Given the description of an element on the screen output the (x, y) to click on. 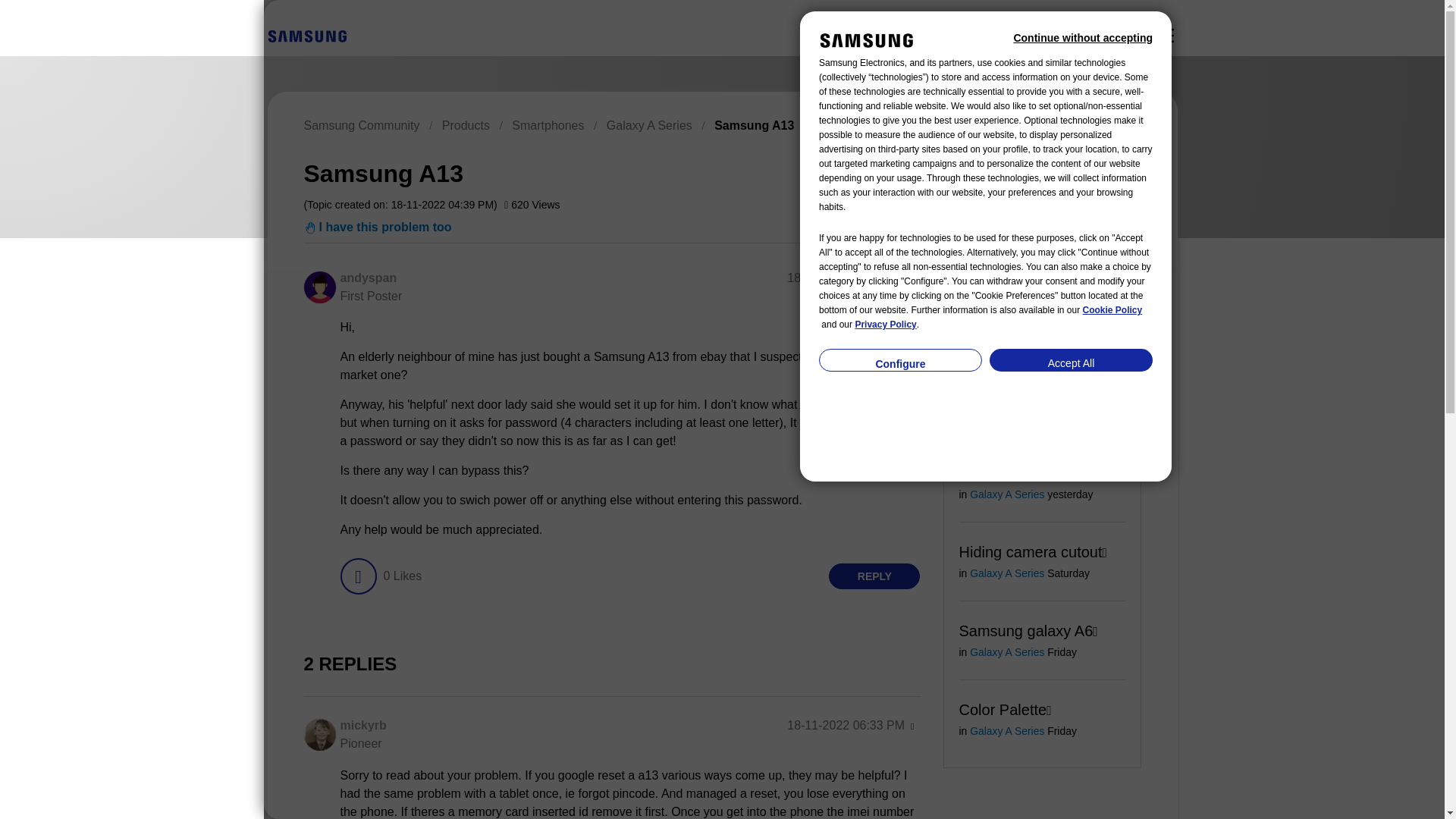
Show option menu (1072, 171)
Click here to give likes to this post. (357, 575)
andyspan (318, 287)
English (306, 36)
Smartphones (547, 124)
English (306, 34)
REPLY (874, 575)
Galaxy A Series (650, 124)
Products (465, 124)
The total number of likes this post has received. (401, 575)
